Given the description of an element on the screen output the (x, y) to click on. 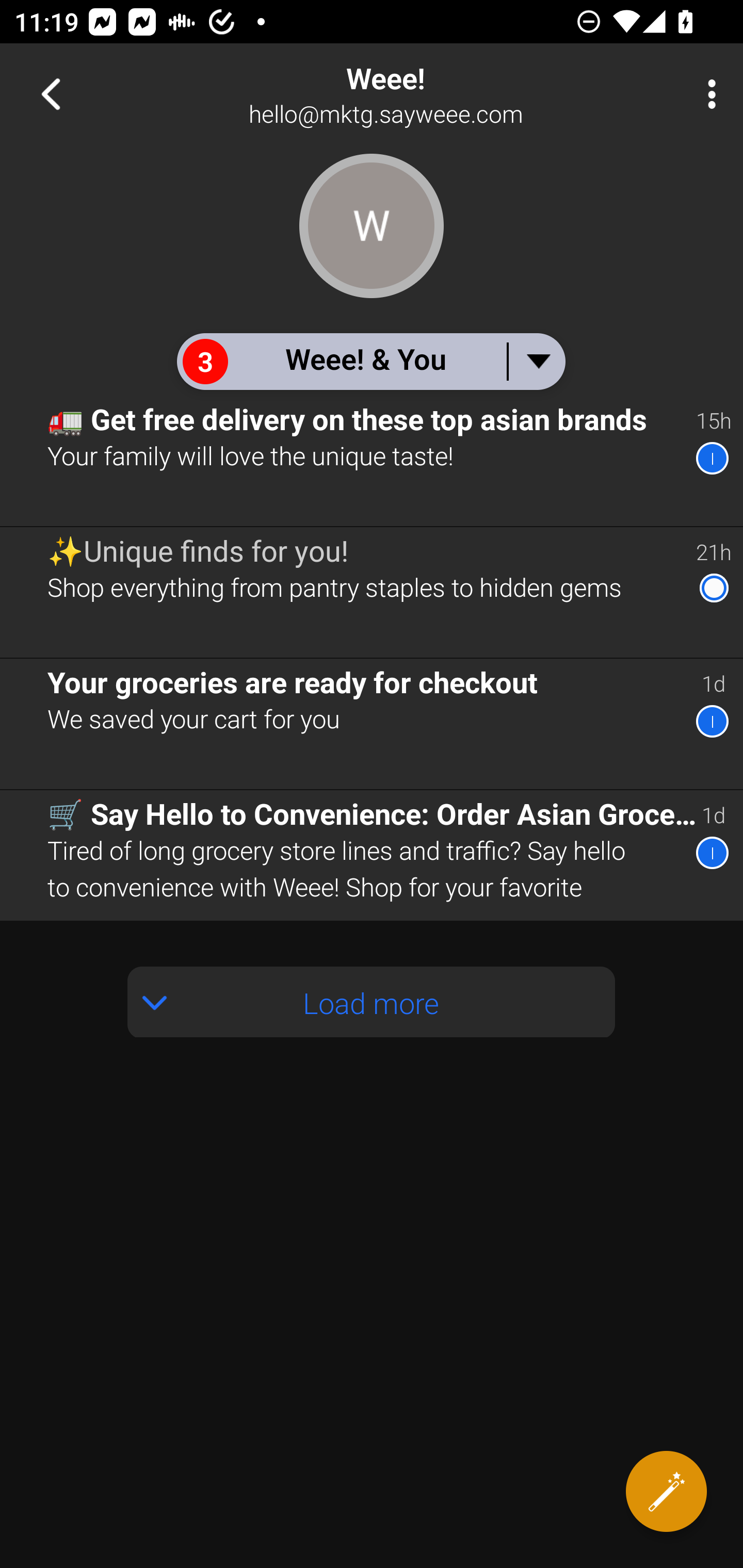
Navigate up (50, 93)
Weee! hello@mktg.sayweee.com (436, 93)
More Options (706, 93)
3 Weee! & You (370, 361)
Load more (371, 1001)
